Given the description of an element on the screen output the (x, y) to click on. 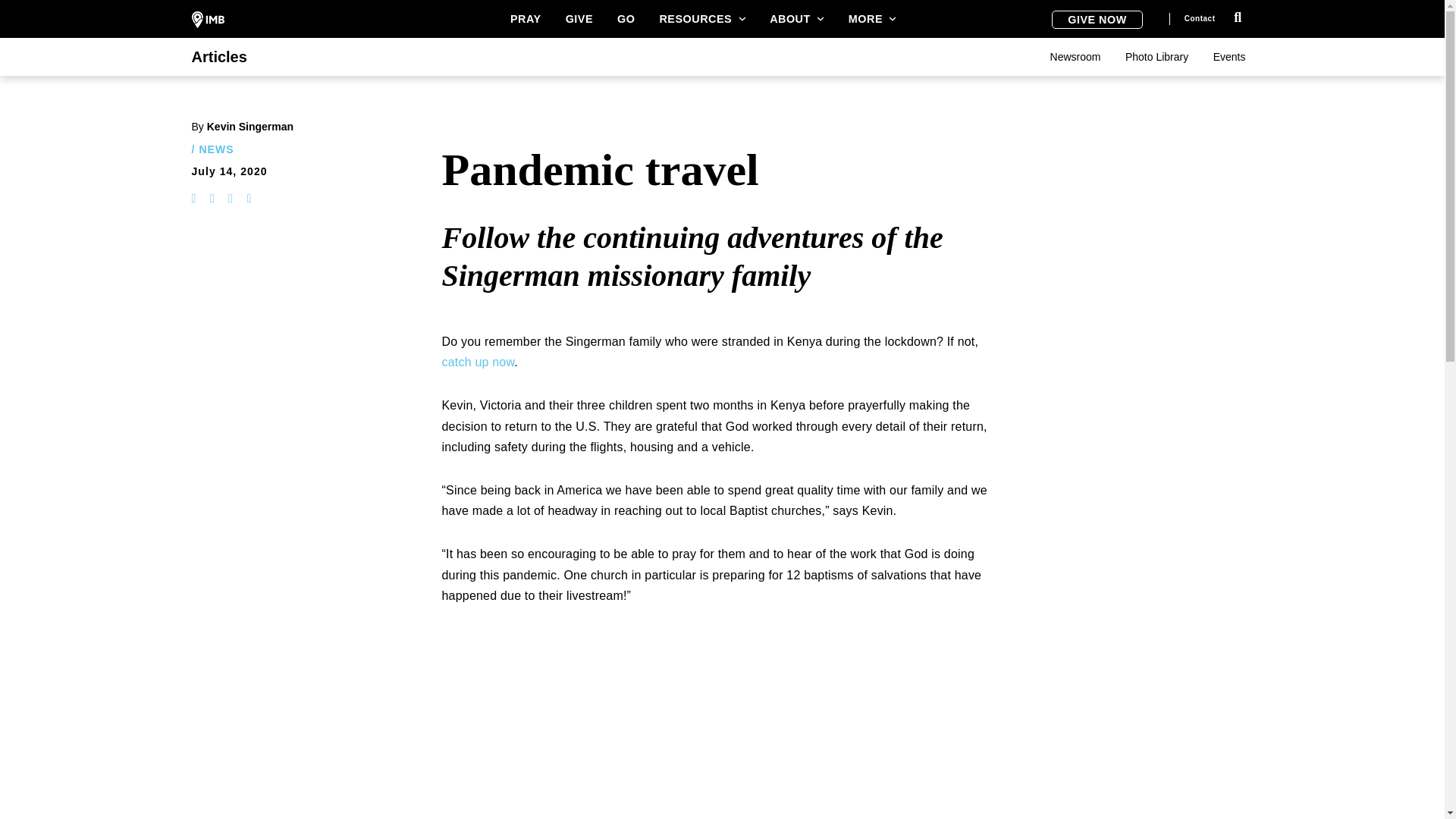
ABOUT (797, 18)
RESOURCES (702, 18)
Search (1237, 16)
IMB (207, 19)
Pandemic Travel (631, 723)
